Given the description of an element on the screen output the (x, y) to click on. 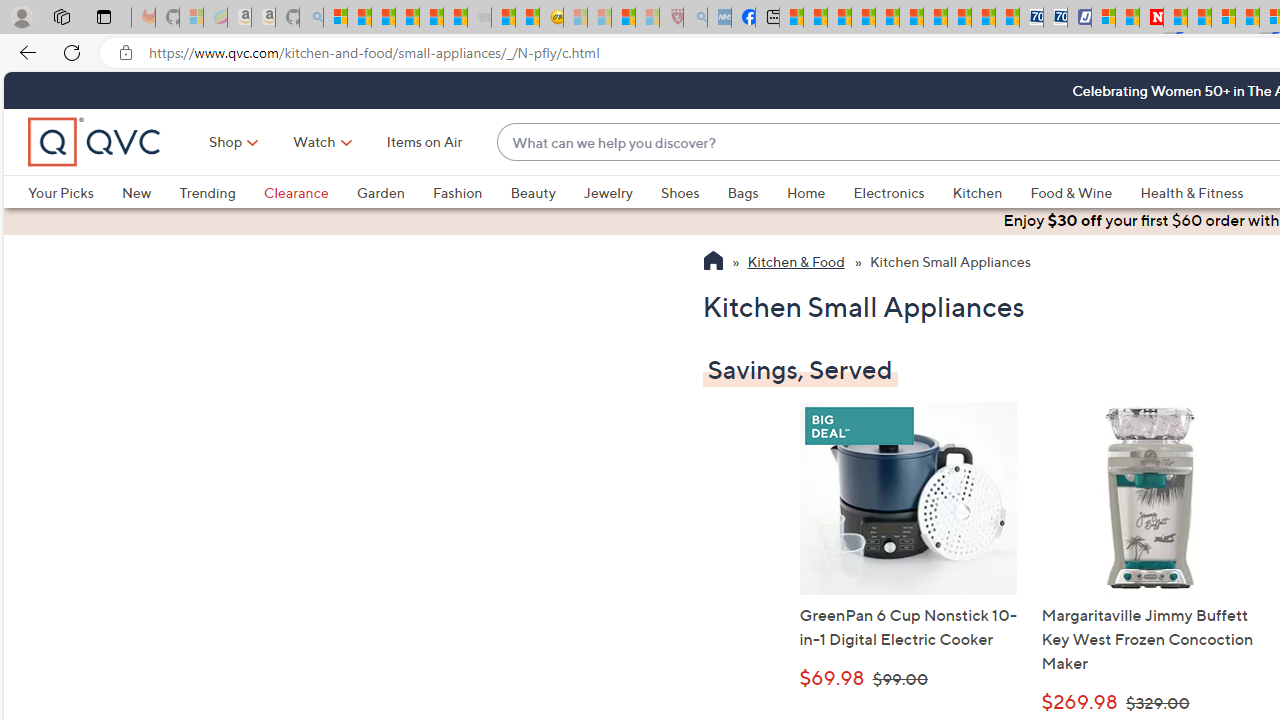
12 Popular Science Lies that Must be Corrected - Sleeping (647, 17)
Latest Politics News & Archive | Newsweek.com (1151, 17)
Your Picks (60, 192)
Items on Air (424, 141)
